Given the description of an element on the screen output the (x, y) to click on. 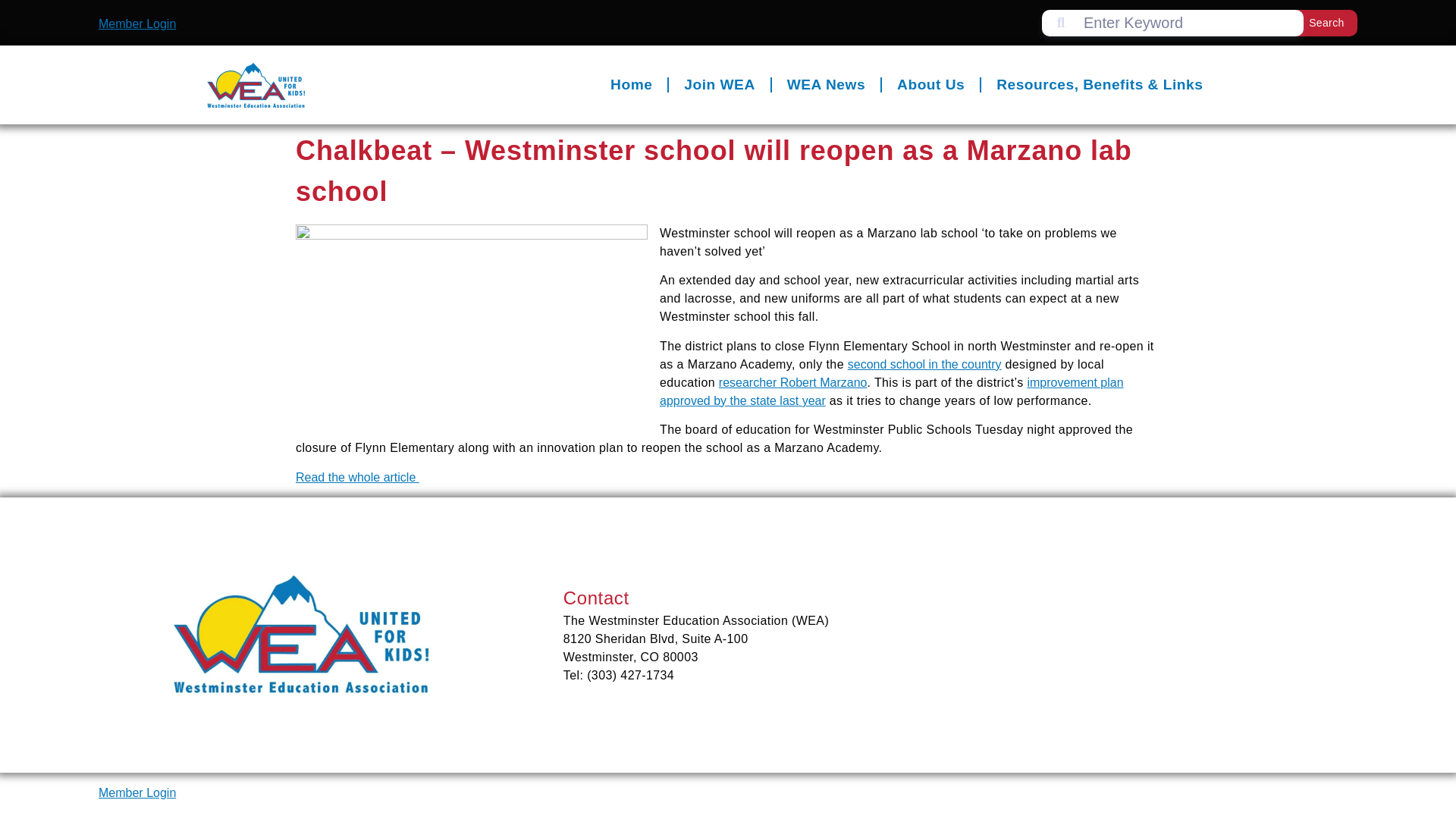
About Us (923, 36)
Member Login (131, 23)
WEA News (818, 31)
Home (624, 24)
westminster education association (1153, 659)
researcher Robert Marzano (787, 382)
improvement plan approved by the state last year (885, 391)
second school in the country (918, 364)
Search (1320, 22)
Read the whole article  (351, 477)
